Given the description of an element on the screen output the (x, y) to click on. 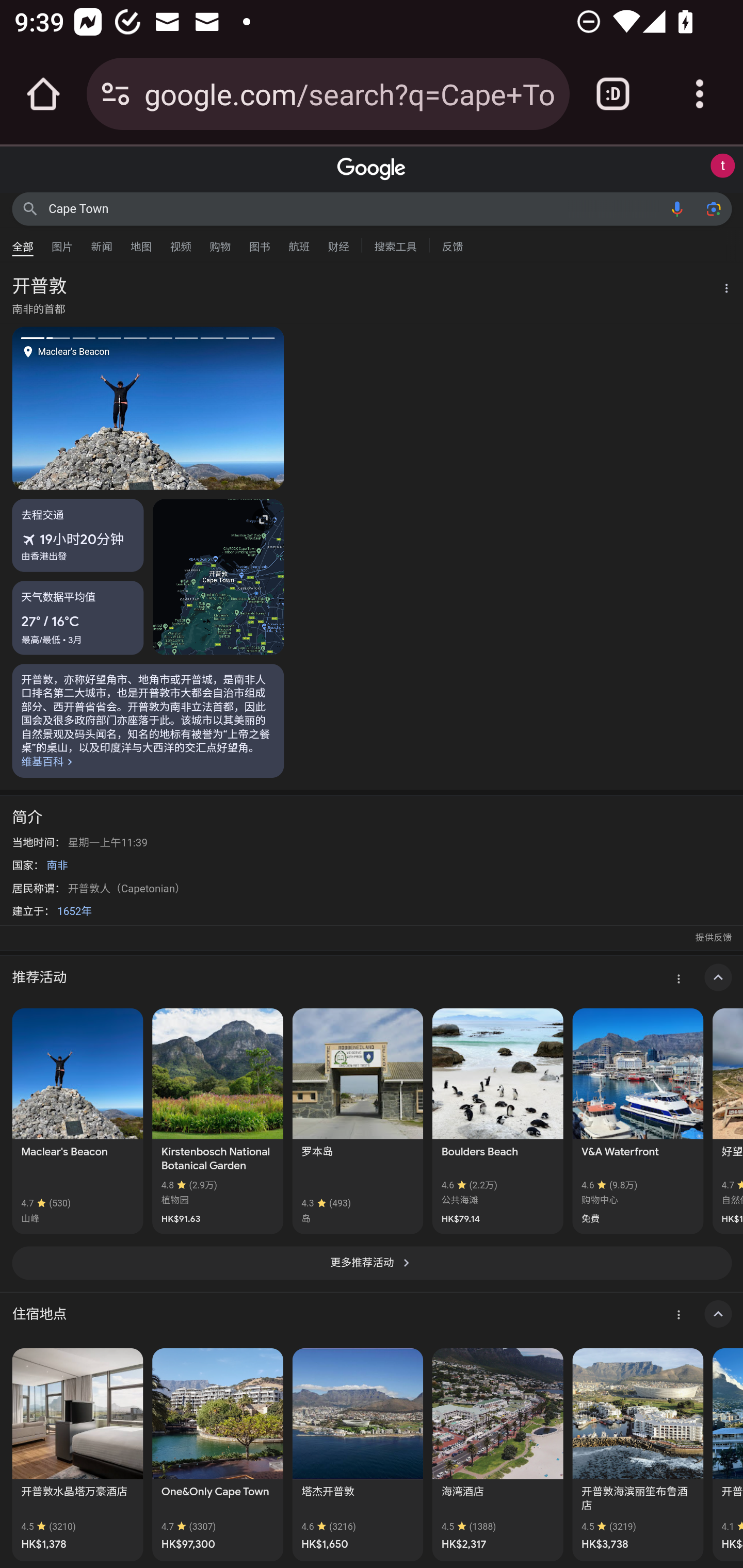
Open the home page (43, 93)
Connection is secure (115, 93)
Switch or close tabs (612, 93)
Customize and control Google Chrome (699, 93)
Google (371, 169)
Google 账号： test appium (testappium002@gmail.com) (722, 165)
Google 搜索 (29, 208)
使用拍照功能或照片进行搜索 (712, 208)
Cape Town (353, 208)
图片 (62, 241)
新闻 (101, 241)
地图 (141, 241)
视频 (180, 241)
购物 (219, 241)
图书 (259, 241)
航班 (299, 241)
财经 (338, 241)
搜索工具 (395, 244)
反馈 (452, 244)
更多选项 (720, 289)
上一张图片 (79, 407)
下一张图片 (215, 407)
去程交通 19小时20分钟 乘坐飞机 由香港出發 (77, 535)
展开地图 (217, 576)
天气数据平均值 27° / 16°C 最高/最低 • 3月 (77, 617)
%E9%96%8B%E6%99%AE%E6%95%A6 (147, 720)
南非 (57, 865)
1652年 (74, 910)
提供反馈 (713, 937)
推荐活动 … 开普敦的推荐活动 (371, 977)
Maclear's Beacon 评分为 4.7 星（最高 5 星）， (530) 山峰 (77, 1121)
罗本岛 评分为 4.3 星（最高 5 星）， (493) 岛 (357, 1121)
V&A Waterfront 评分为 4.6 星（最高 5 星）， (9.8万) 购物中心 免费 (637, 1121)
更多推荐活动 (371, 1262)
住宿地点 … 开普敦的酒店 (371, 1313)
开普敦水晶塔万豪酒店 4.5 评分为 4.5 星（最高 5 星）， (3210) HK$1,378 (77, 1453)
塔杰开普敦 4.6 评分为 4.6 星（最高 5 星）， (3216) HK$1,650 (357, 1453)
海湾酒店 4.5 评分为 4.5 星（最高 5 星）， (1388) HK$2,317 (497, 1453)
开普敦海滨丽笙布鲁酒店 4.5 评分为 4.5 星（最高 5 星）， (3219) HK$3,738 (637, 1453)
